Given the description of an element on the screen output the (x, y) to click on. 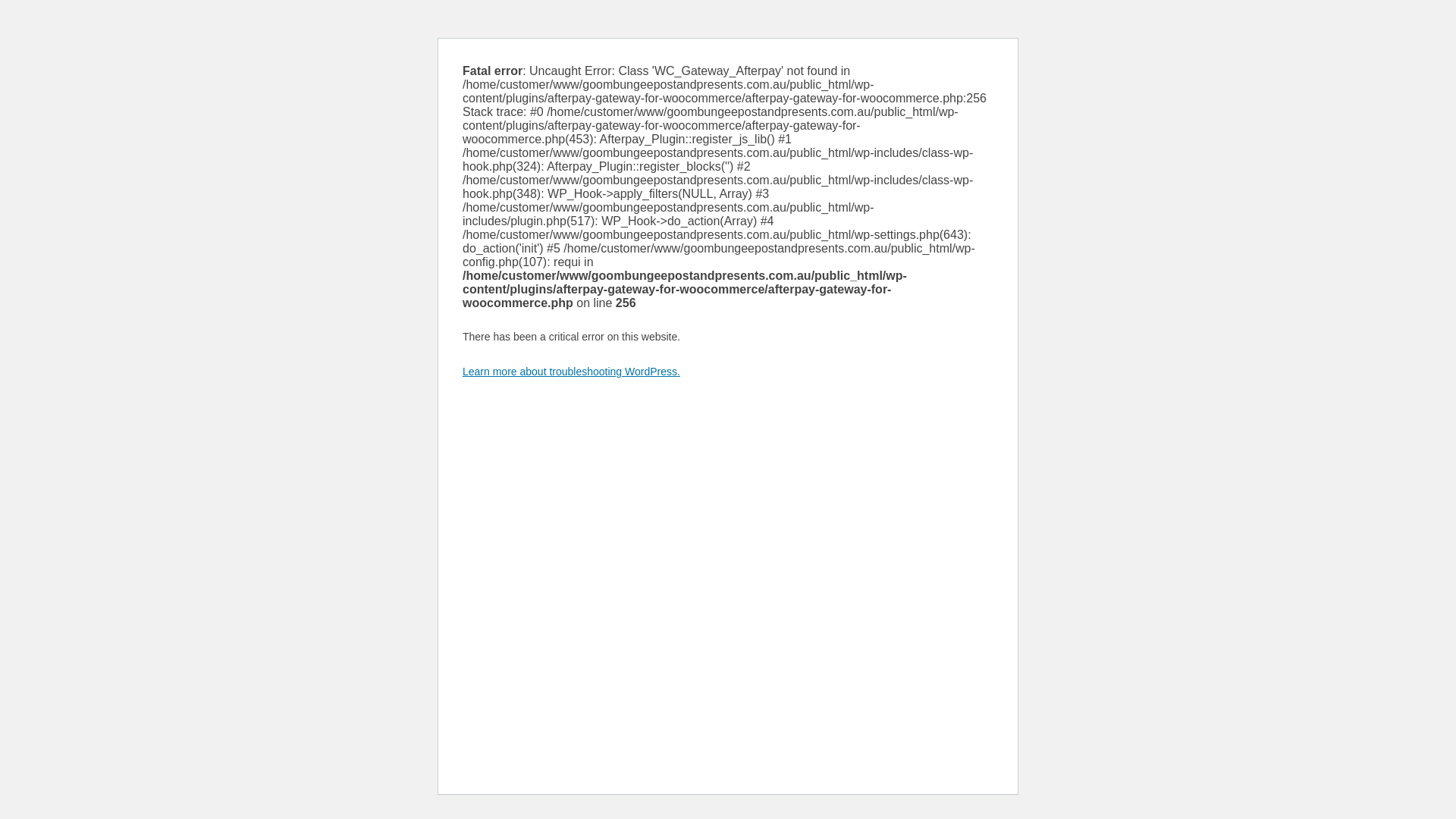
Learn more about troubleshooting WordPress. Element type: text (571, 371)
